Given the description of an element on the screen output the (x, y) to click on. 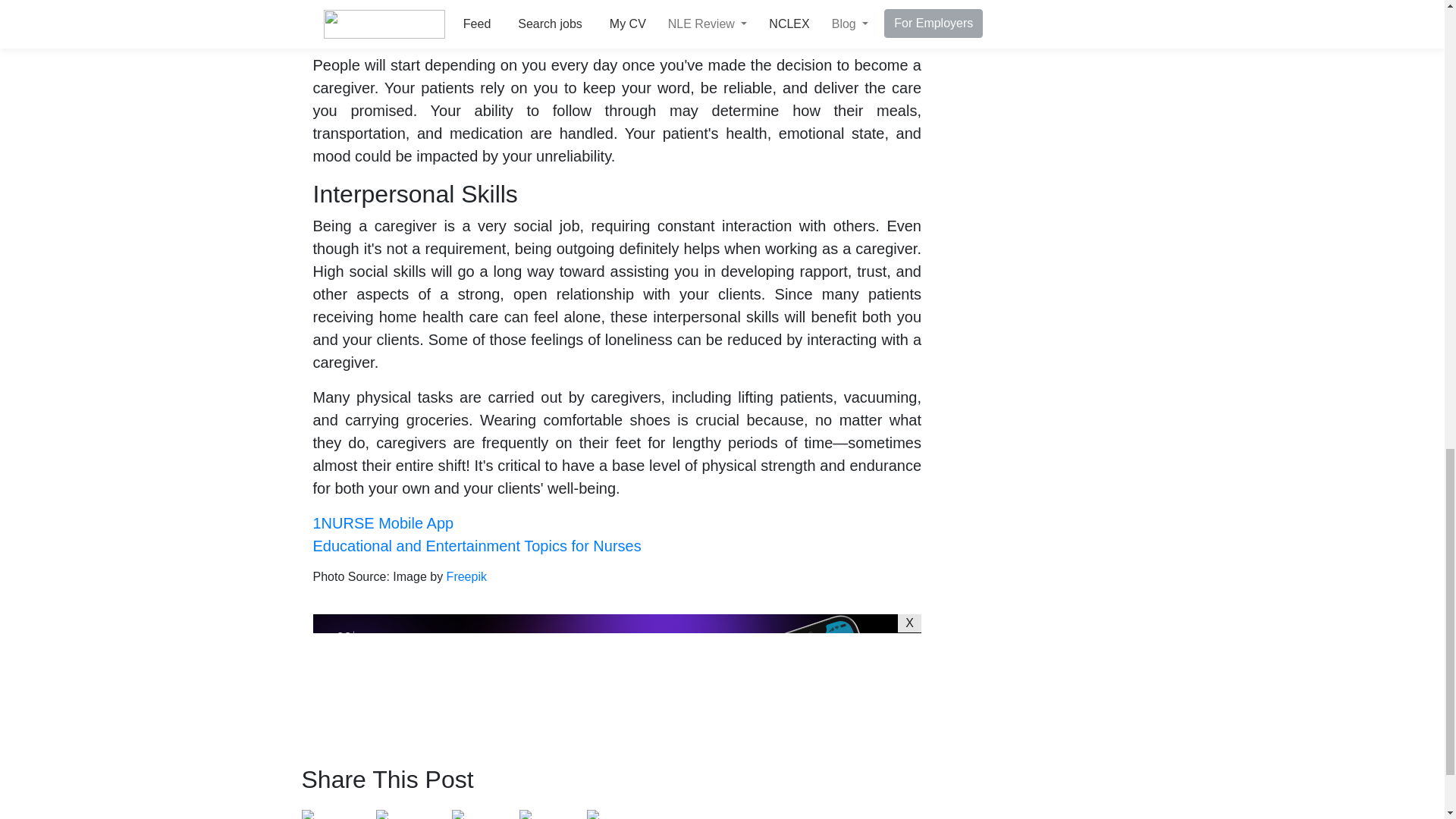
Freepik (466, 576)
1NURSE Mobile App (382, 523)
Educational and Entertainment Topics for Nurses (476, 545)
